Given the description of an element on the screen output the (x, y) to click on. 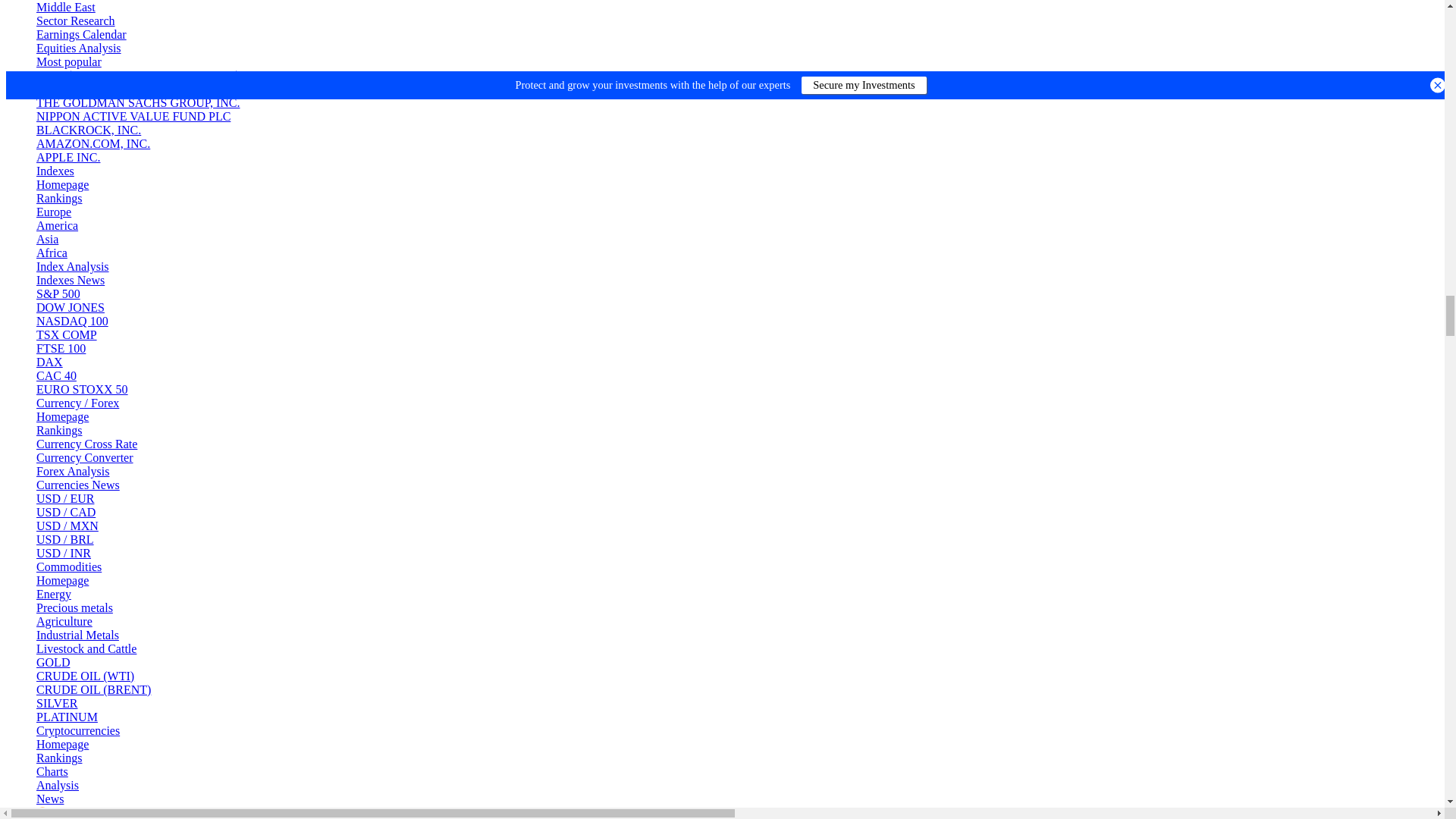
Equities Analysis (78, 47)
Nippon Active Value Fund plc (133, 115)
BlackRock, Inc. (88, 129)
Most popular (68, 61)
Sector Research (75, 20)
Earnings Calendar (81, 33)
Burberry Group plc (103, 88)
Earnings Calendar (81, 33)
Market price middle-east (66, 6)
The Goldman Sachs Group, Inc. (138, 102)
Middle East (66, 6)
Sector Research (75, 20)
